Given the description of an element on the screen output the (x, y) to click on. 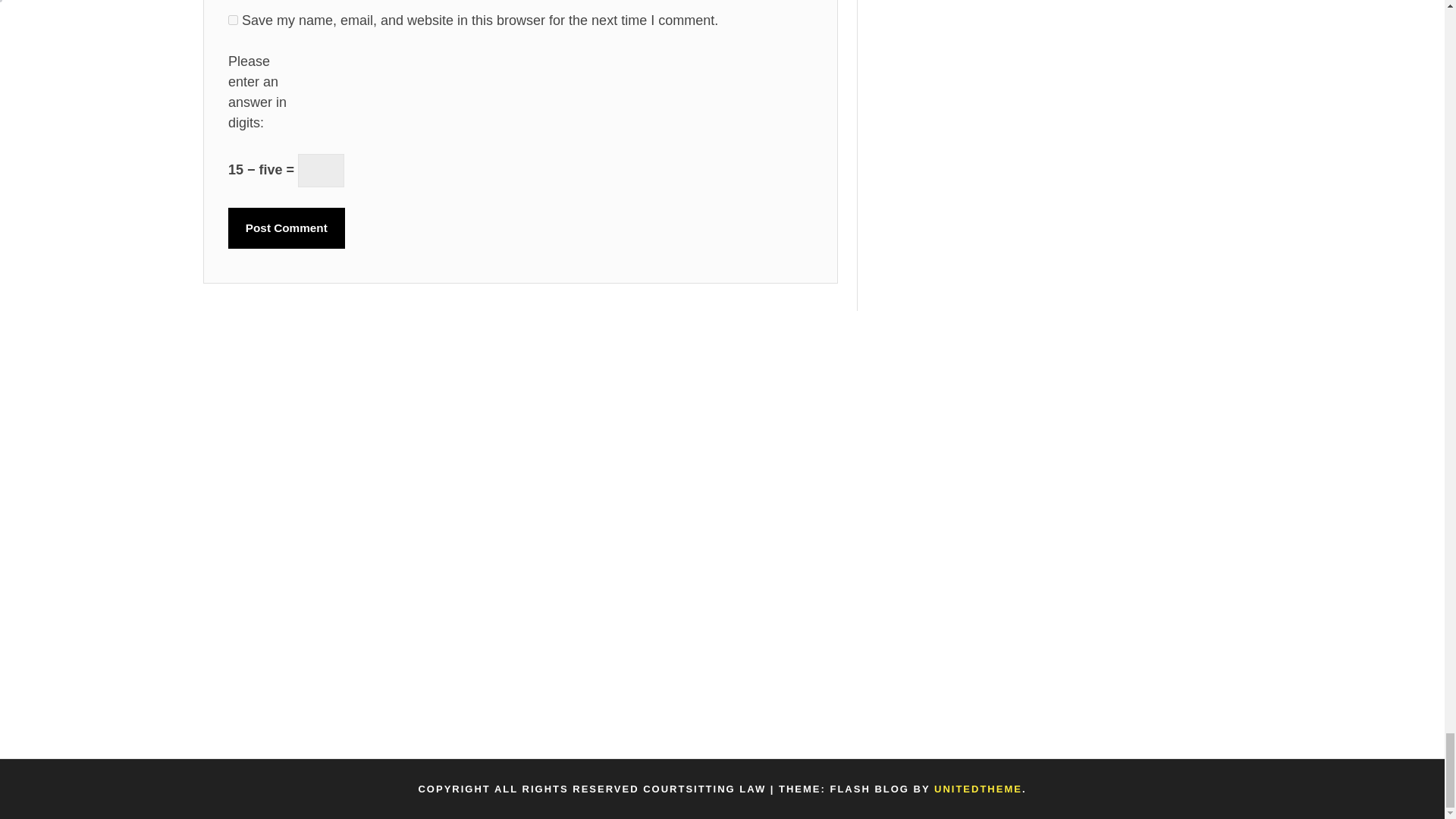
yes (233, 19)
Post Comment (286, 228)
